Given the description of an element on the screen output the (x, y) to click on. 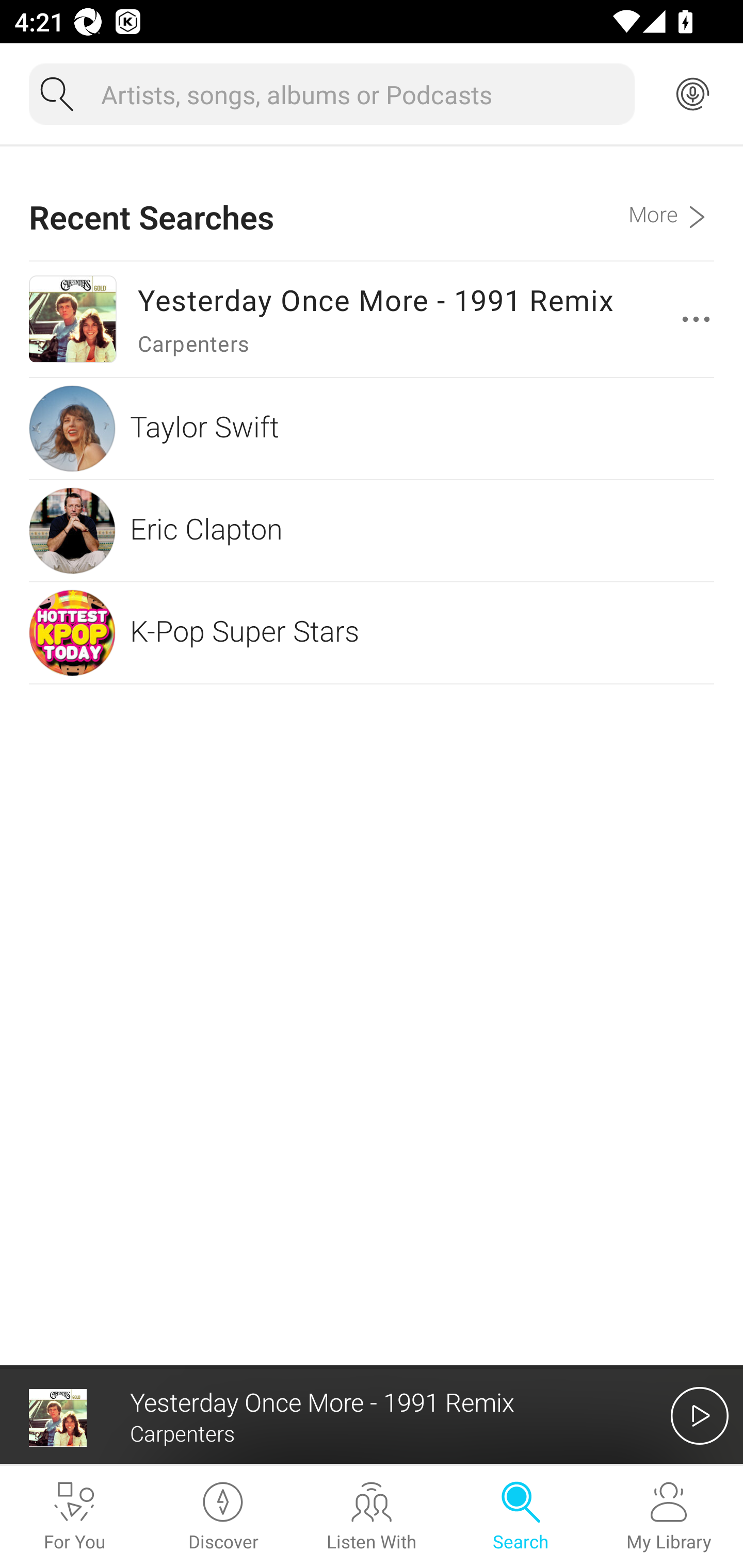
Music recognition (692, 93)
Artists, songs, albums or Podcasts (360, 93)
More Recent Searches More (671, 202)
Yesterday Once More - 1991 Remix Carpenters 更多操作選項 (371, 318)
更多操作選項 (699, 318)
Taylor Swift (371, 428)
Eric Clapton (371, 530)
K-Pop Super Stars (371, 632)
開始播放 (699, 1415)
For You (74, 1517)
Discover (222, 1517)
Listen With (371, 1517)
Search (519, 1517)
My Library (668, 1517)
